Given the description of an element on the screen output the (x, y) to click on. 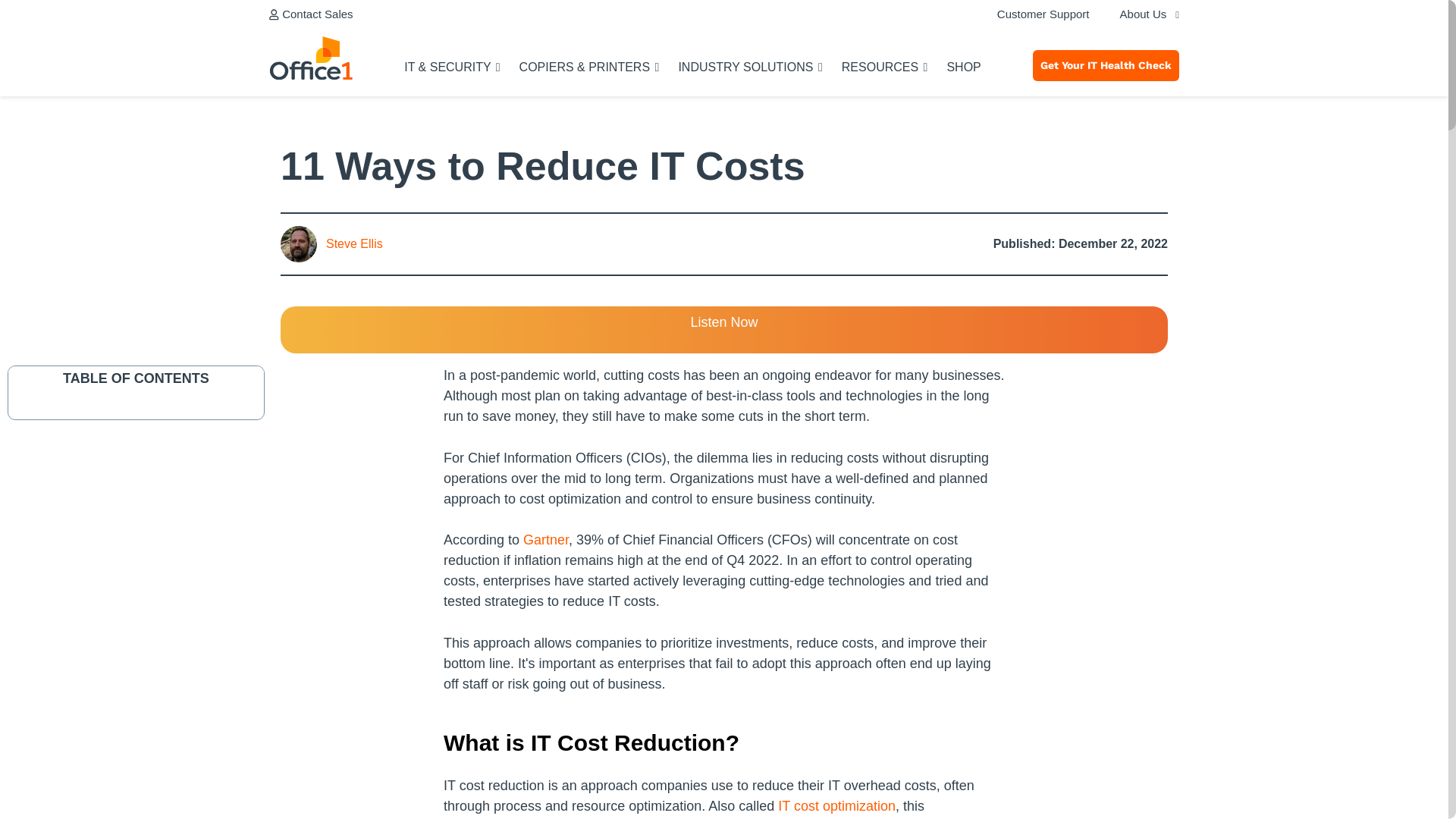
RESOURCES (884, 83)
INDUSTRY SOLUTIONS (750, 83)
Gartner (545, 539)
IT cost optimization (836, 806)
Steve Ellis (331, 244)
About Us (1142, 17)
Contact Sales (311, 13)
office1-logo (310, 58)
Customer Support (1043, 17)
